Given the description of an element on the screen output the (x, y) to click on. 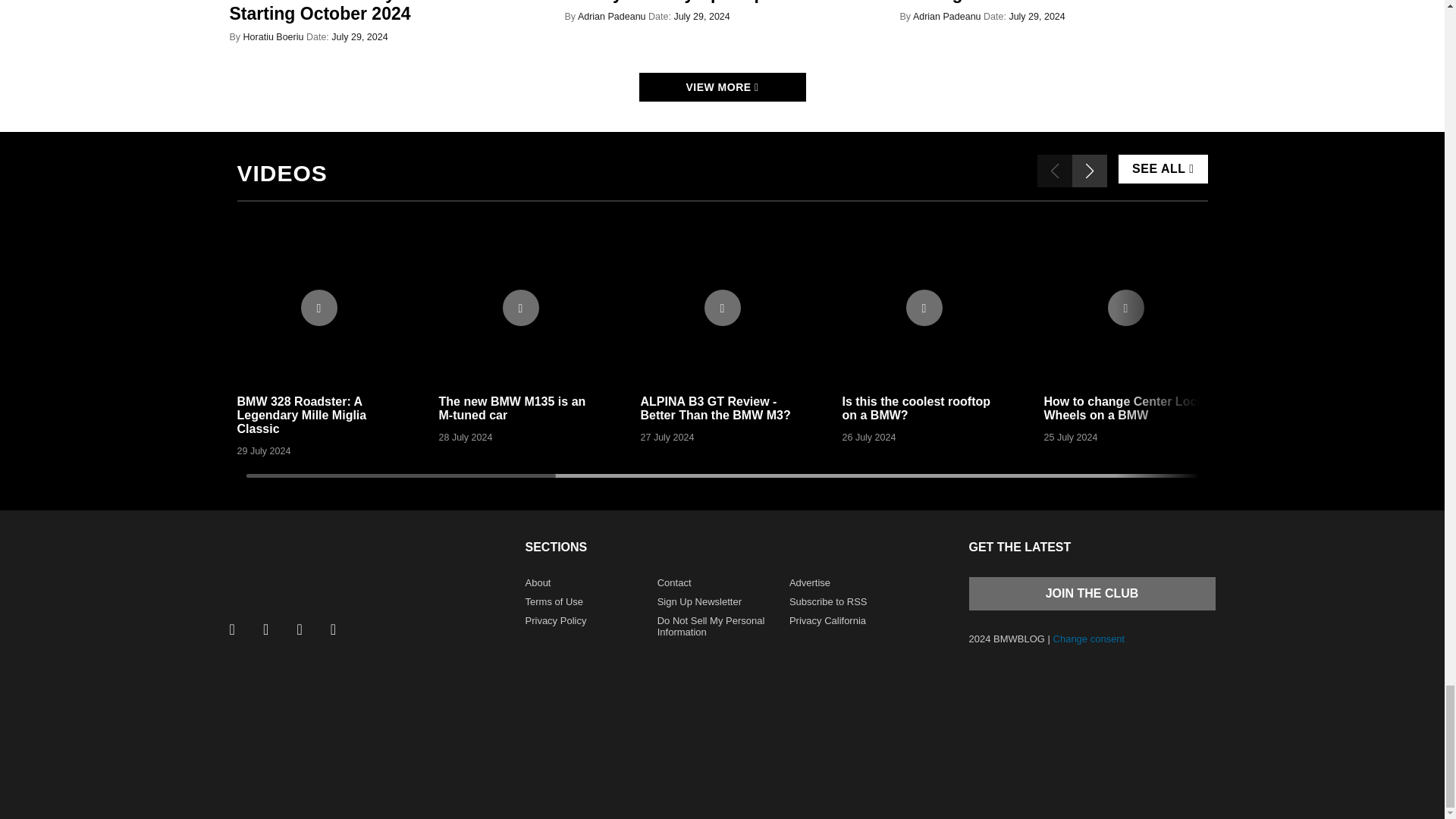
Join the club (1092, 593)
